Given the description of an element on the screen output the (x, y) to click on. 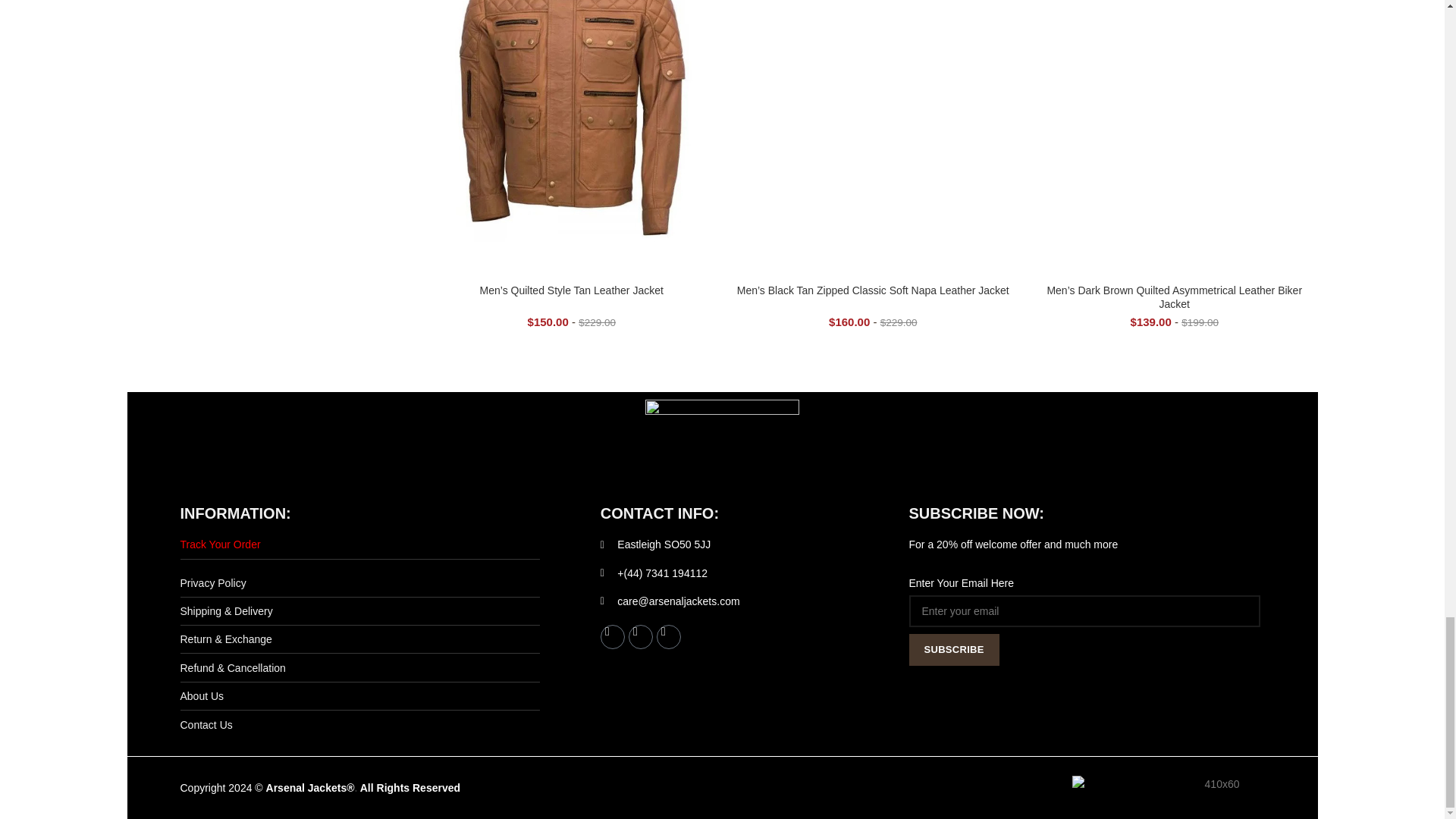
Subscribe (953, 649)
